Given the description of an element on the screen output the (x, y) to click on. 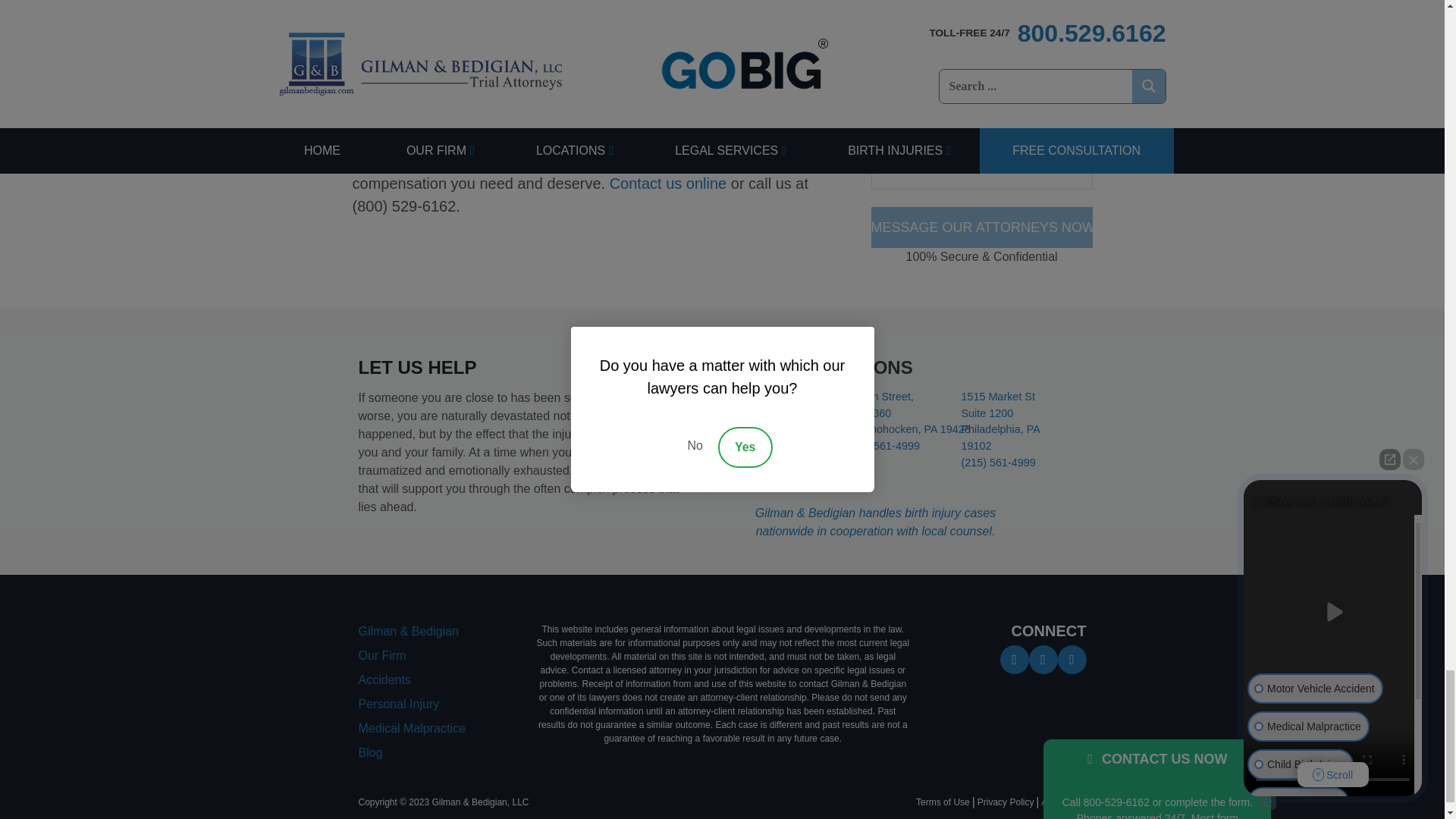
Default Label (1071, 658)
Twitter (1042, 658)
Facebook (1012, 658)
